Given the description of an element on the screen output the (x, y) to click on. 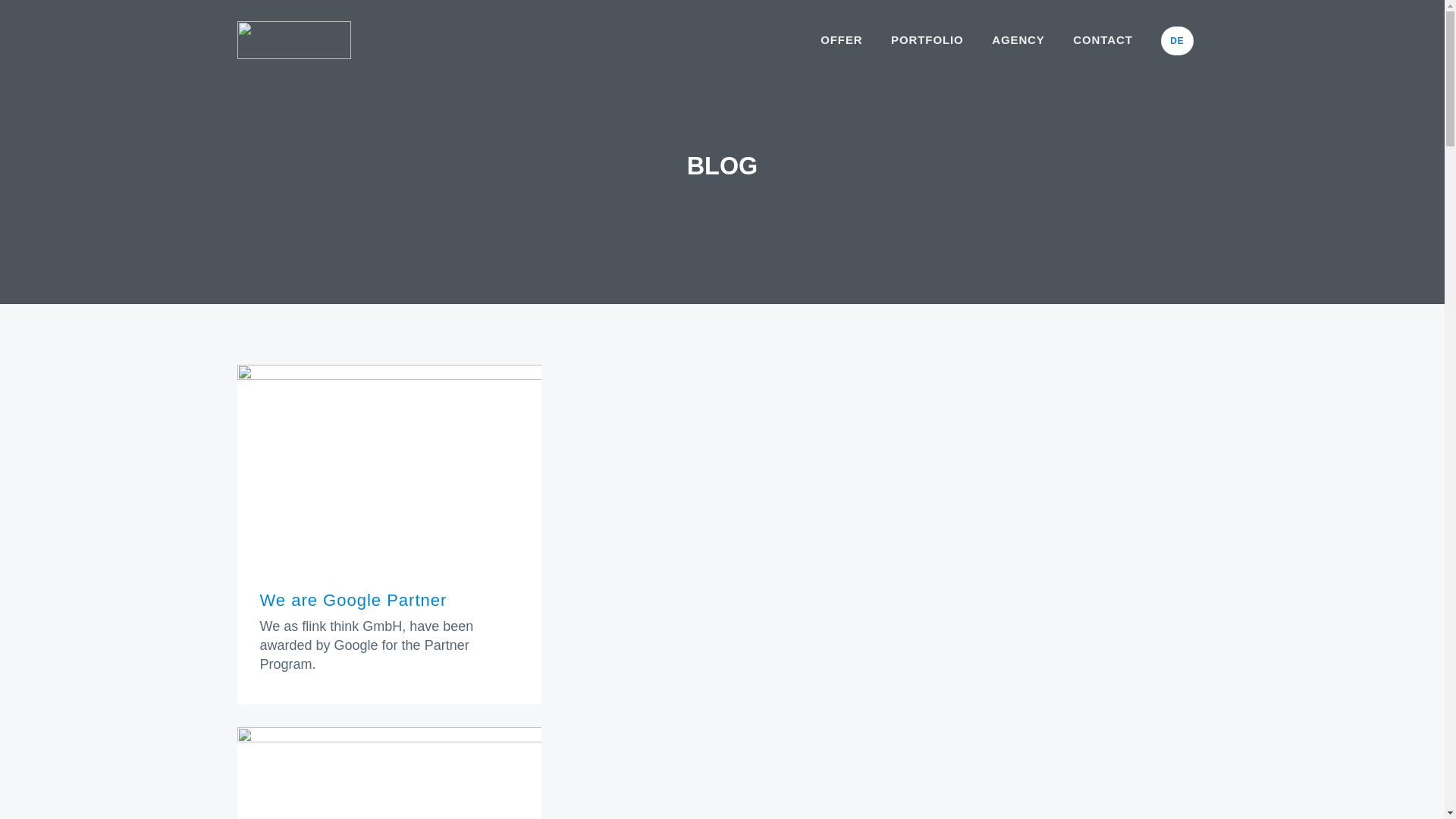
AGENCY (1017, 39)
PORTFOLIO (926, 39)
CONTACT (1102, 39)
FLINK THINK GMBH (297, 64)
We are Google Partner (352, 599)
